Given the description of an element on the screen output the (x, y) to click on. 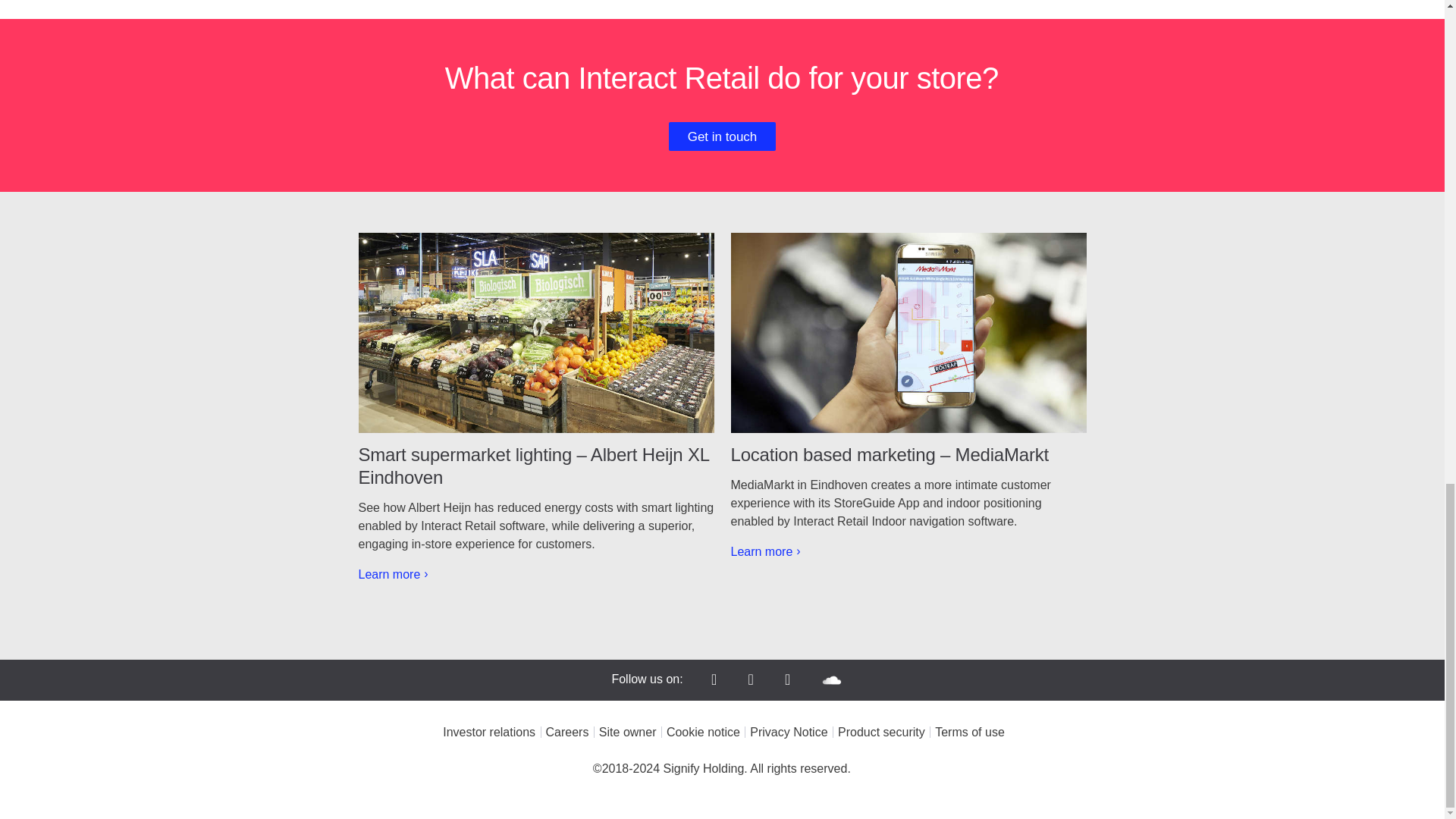
Privacy Notice (786, 731)
Get in touch (722, 136)
Site owner (626, 731)
Learn more (393, 574)
Learn more (765, 551)
Cookie notice (701, 731)
Get in touch (722, 136)
Product security (879, 731)
SoundCloud (831, 680)
Terms of use (968, 731)
